Given the description of an element on the screen output the (x, y) to click on. 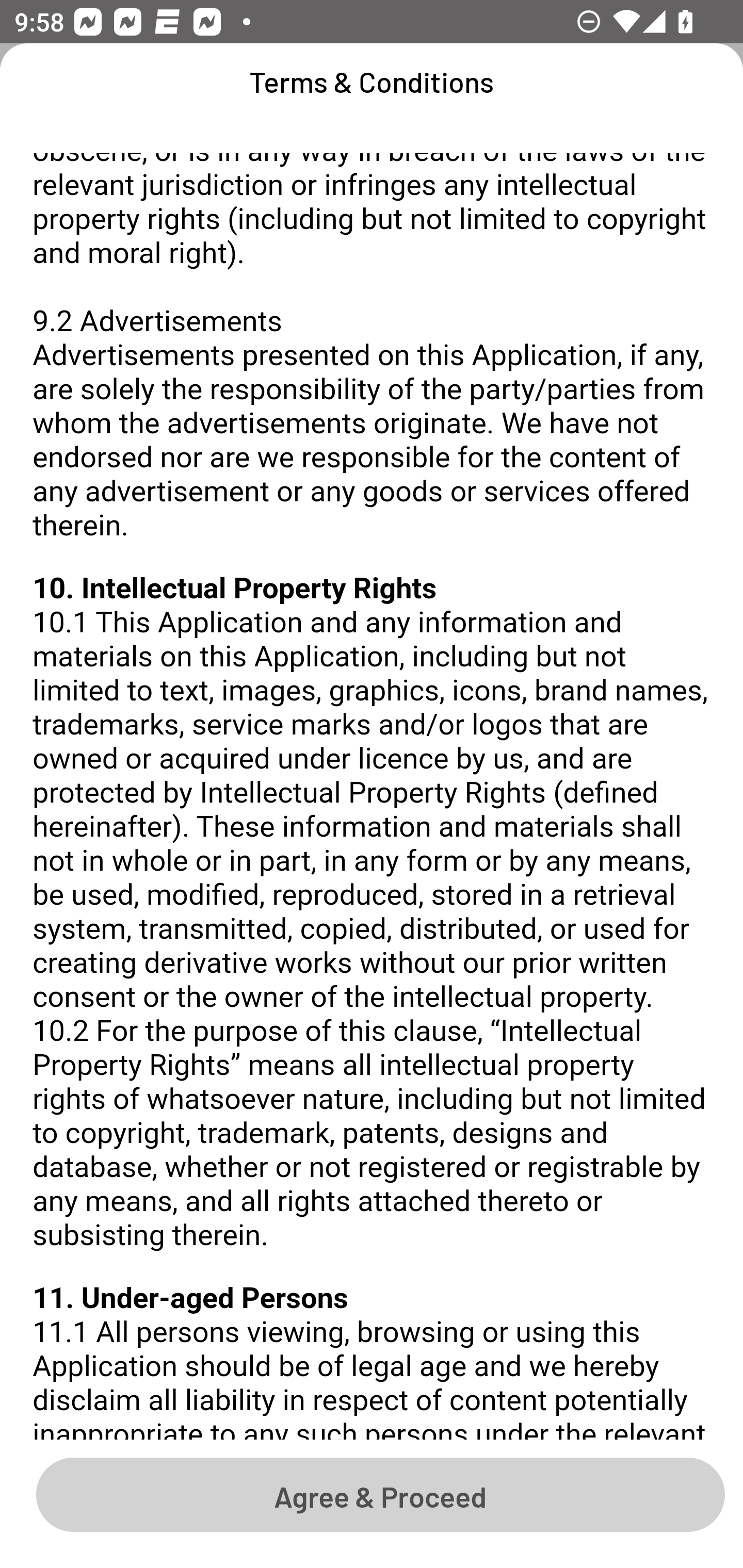
Agree & Proceed (380, 1494)
